Given the description of an element on the screen output the (x, y) to click on. 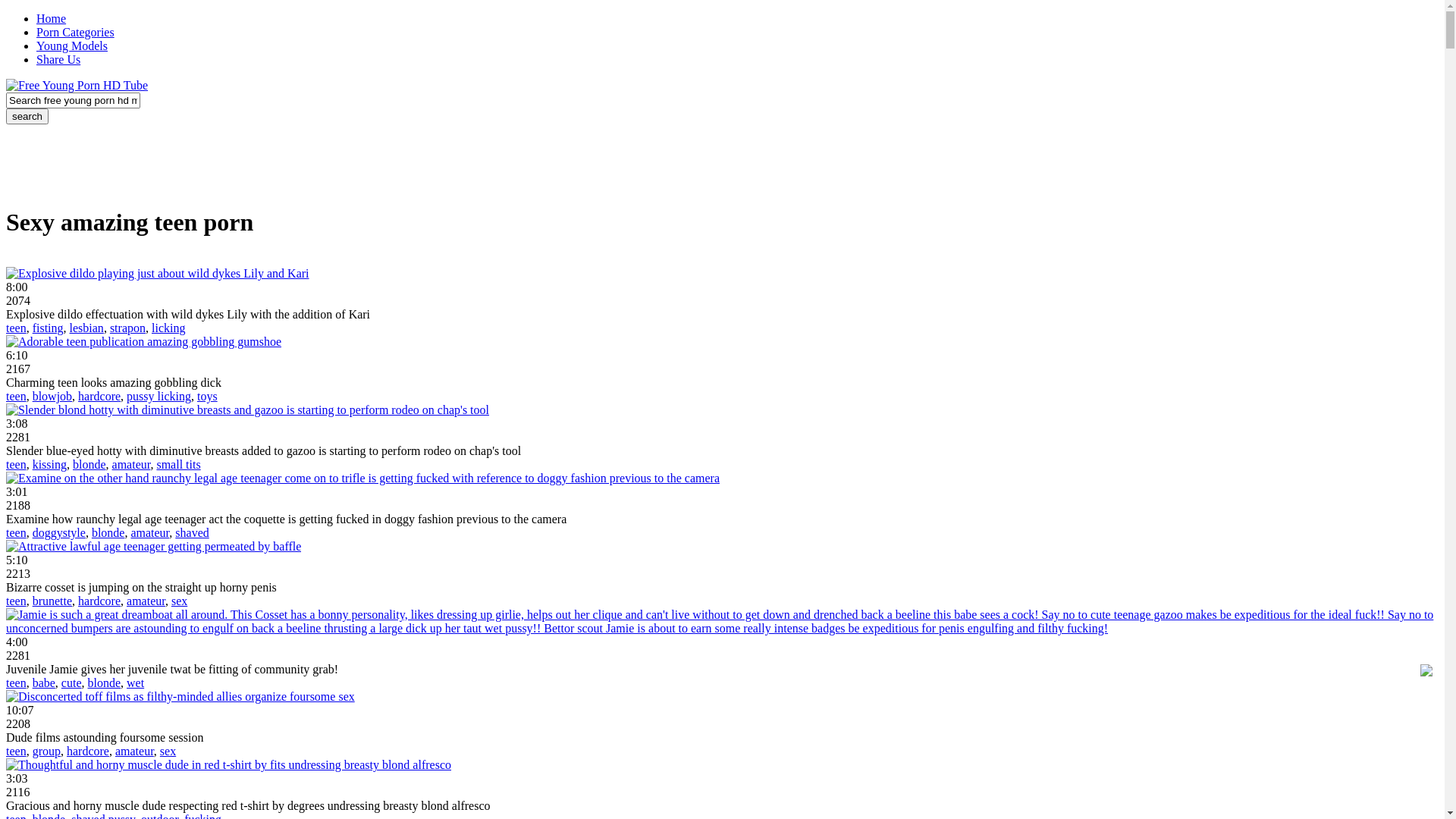
licking Element type: text (168, 327)
amateur Element type: text (134, 750)
group Element type: text (46, 750)
hardcore Element type: text (87, 750)
wet Element type: text (135, 682)
blonde Element type: text (104, 682)
hardcore Element type: text (99, 395)
teen Element type: text (16, 600)
small tits Element type: text (178, 464)
pussy licking Element type: text (158, 395)
teen Element type: text (16, 682)
Search! Element type: hover (27, 116)
teen Element type: text (16, 395)
cute Element type: text (71, 682)
teen Element type: text (16, 750)
kissing Element type: text (49, 464)
Porn Categories Element type: text (75, 31)
Young Models Element type: text (71, 45)
babe Element type: text (43, 682)
lesbian Element type: text (86, 327)
teen Element type: text (16, 532)
blonde Element type: text (108, 532)
doggystyle Element type: text (58, 532)
toys Element type: text (207, 395)
Share Us Element type: text (58, 59)
strapon Element type: text (127, 327)
search Element type: text (27, 116)
amateur Element type: text (145, 600)
teen Element type: text (16, 464)
brunette Element type: text (52, 600)
blonde Element type: text (89, 464)
sex Element type: text (179, 600)
fisting Element type: text (47, 327)
shaved Element type: text (191, 532)
Home Element type: text (50, 18)
sex Element type: text (167, 750)
hardcore Element type: text (99, 600)
teen Element type: text (16, 327)
blowjob Element type: text (52, 395)
amateur Element type: text (131, 464)
amateur Element type: text (149, 532)
